Given the description of an element on the screen output the (x, y) to click on. 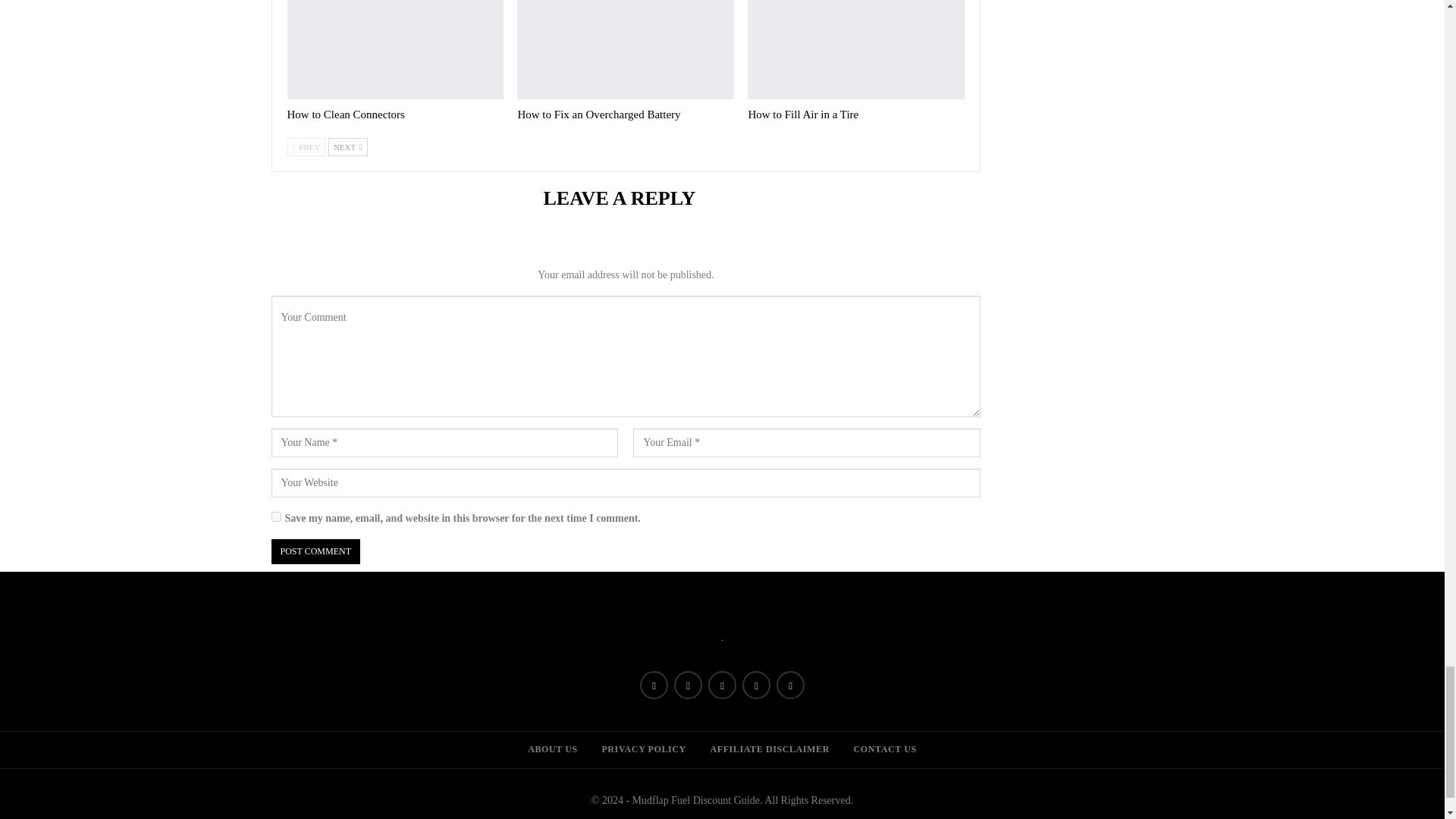
How to Fix an Overcharged Battery (597, 114)
How to Fill Air in a Tire (803, 114)
How to Clean Connectors (345, 114)
yes (275, 516)
Post Comment (314, 551)
How to Clean Connectors (394, 49)
How to Fill Air in a Tire (855, 49)
How to Fix an Overcharged Battery (624, 49)
